Given the description of an element on the screen output the (x, y) to click on. 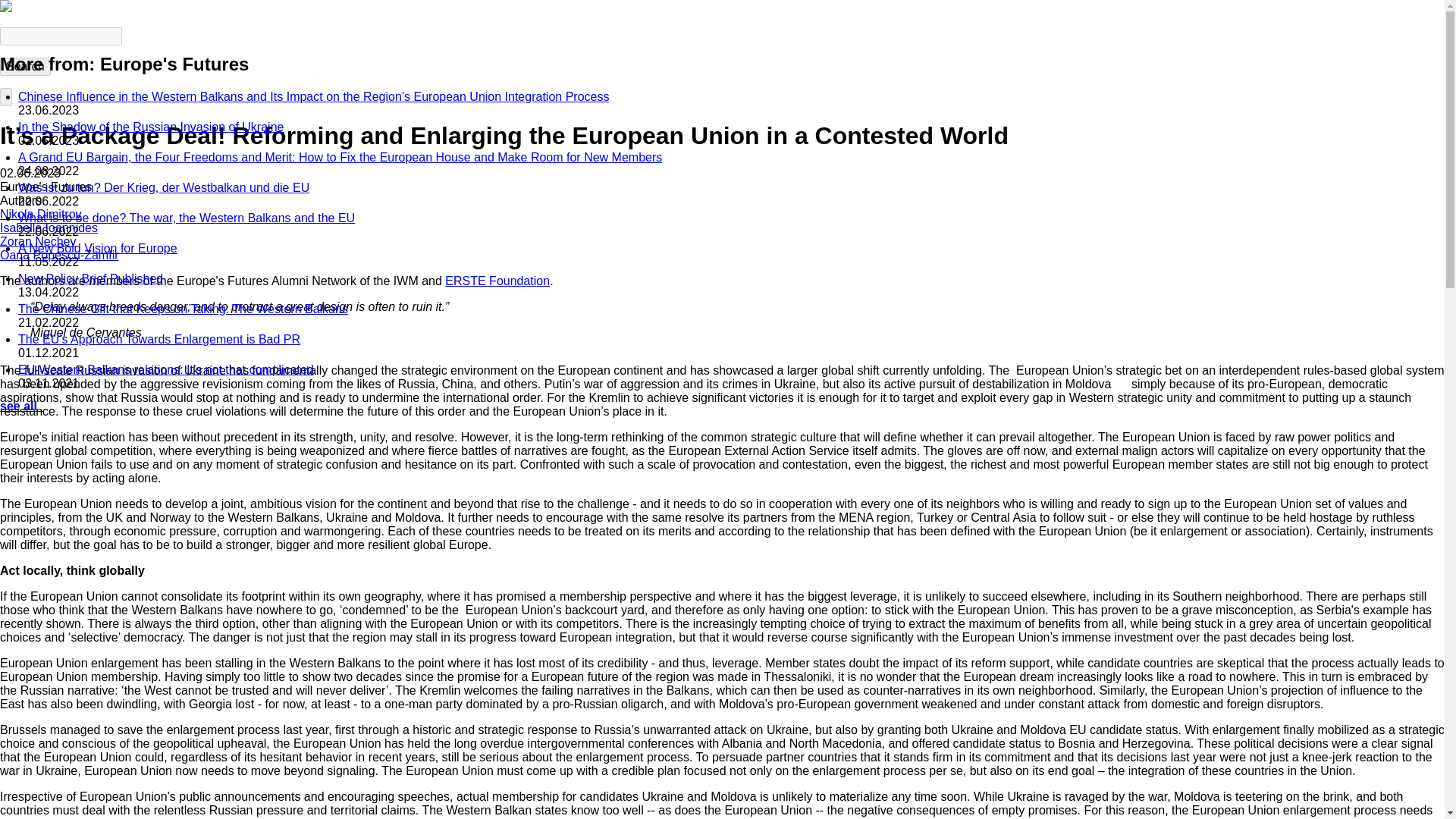
Home (5, 7)
Search (25, 66)
Enter the terms you wish to search for. (61, 36)
Search (25, 66)
